Given the description of an element on the screen output the (x, y) to click on. 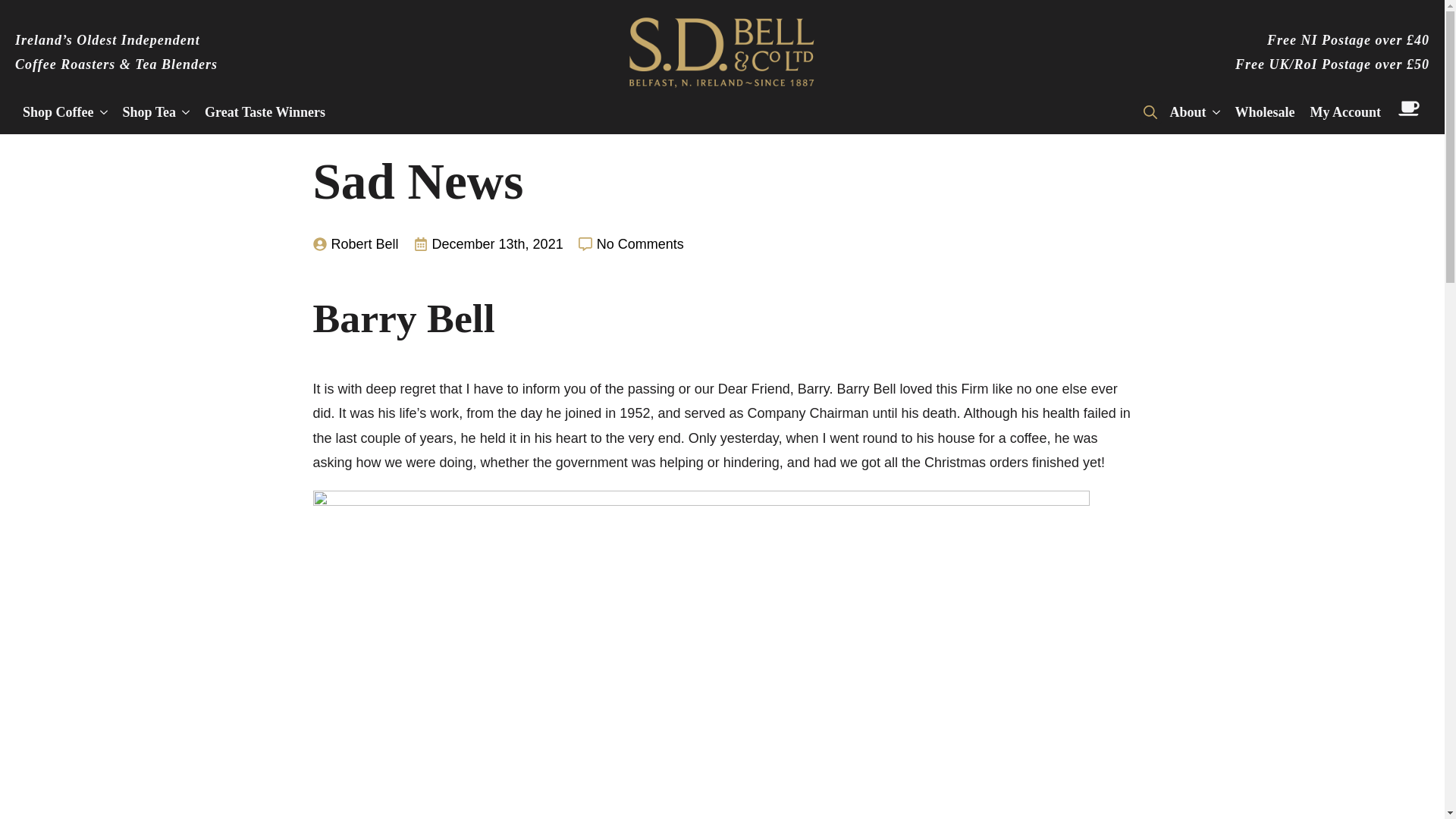
Shop Tea (145, 111)
About (1183, 111)
Shop Coffee (54, 111)
Great Taste Winners (264, 111)
